Given the description of an element on the screen output the (x, y) to click on. 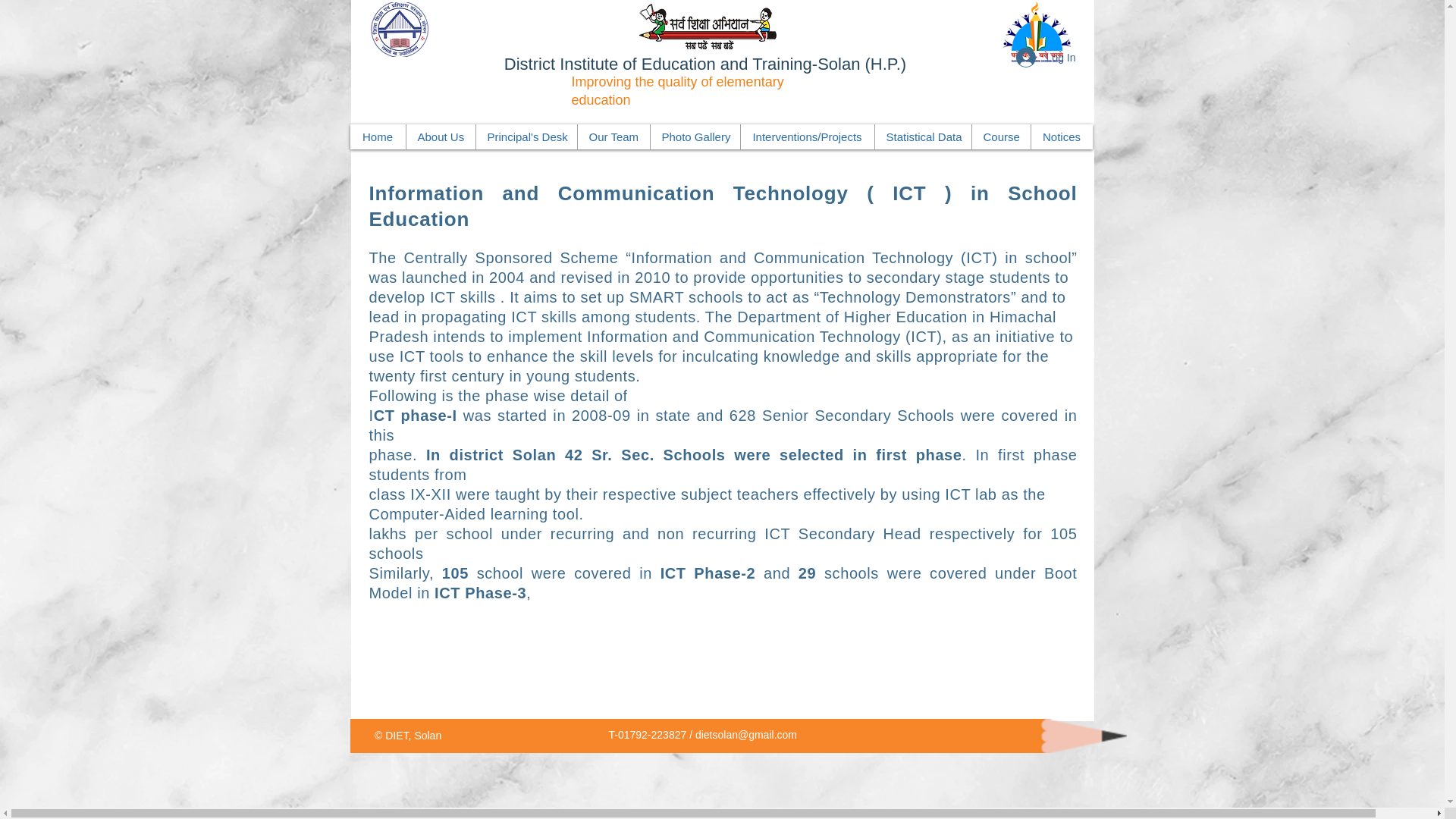
Notices (1060, 136)
SSA-Logo.png (707, 26)
ssa solan.png (397, 29)
Log In (1046, 57)
About Us (439, 136)
Home (378, 136)
Photo Gallery (694, 136)
Principal's Desk (525, 136)
Statistical Data (922, 136)
